Given the description of an element on the screen output the (x, y) to click on. 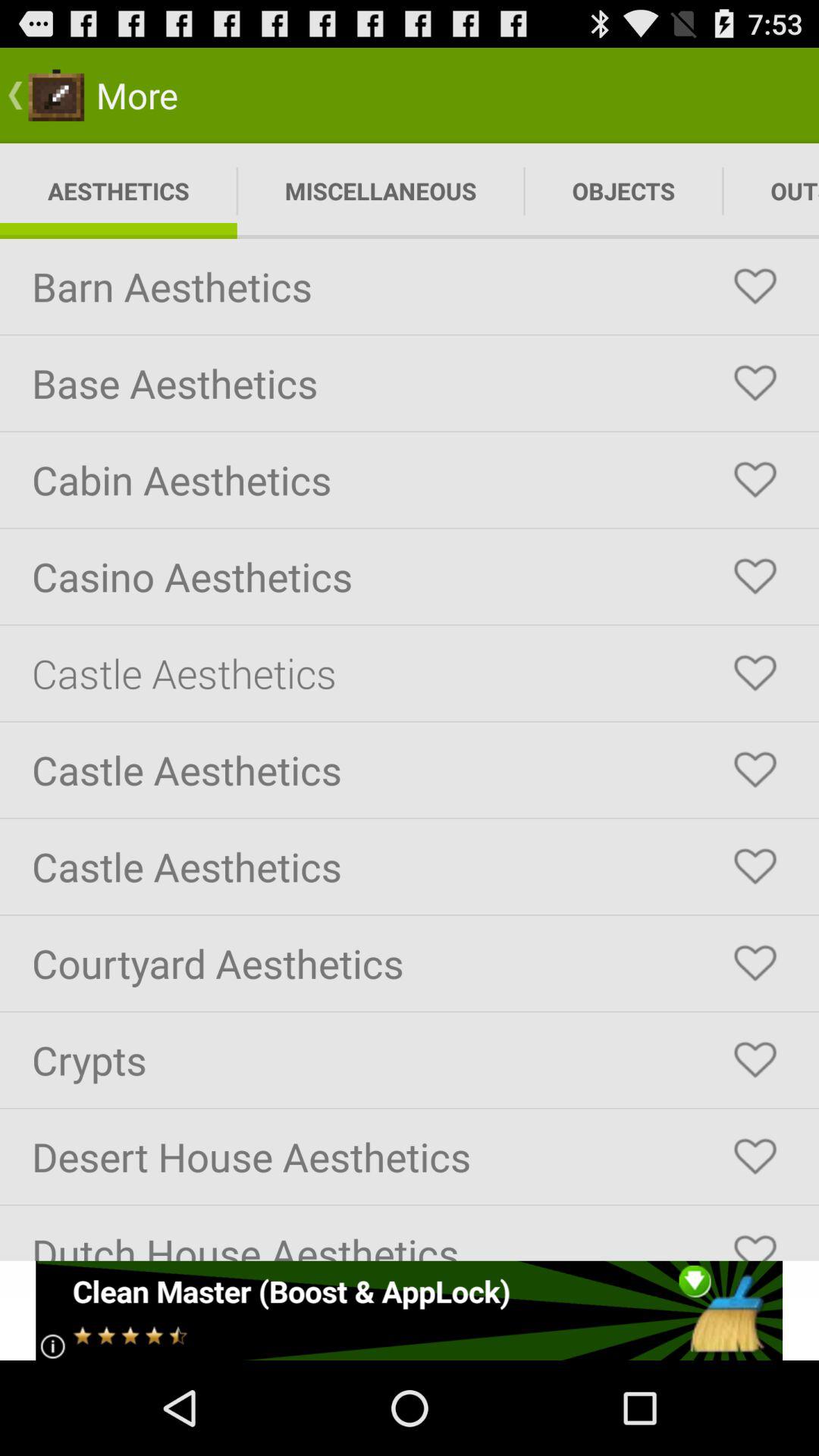
add to favorites (755, 286)
